Given the description of an element on the screen output the (x, y) to click on. 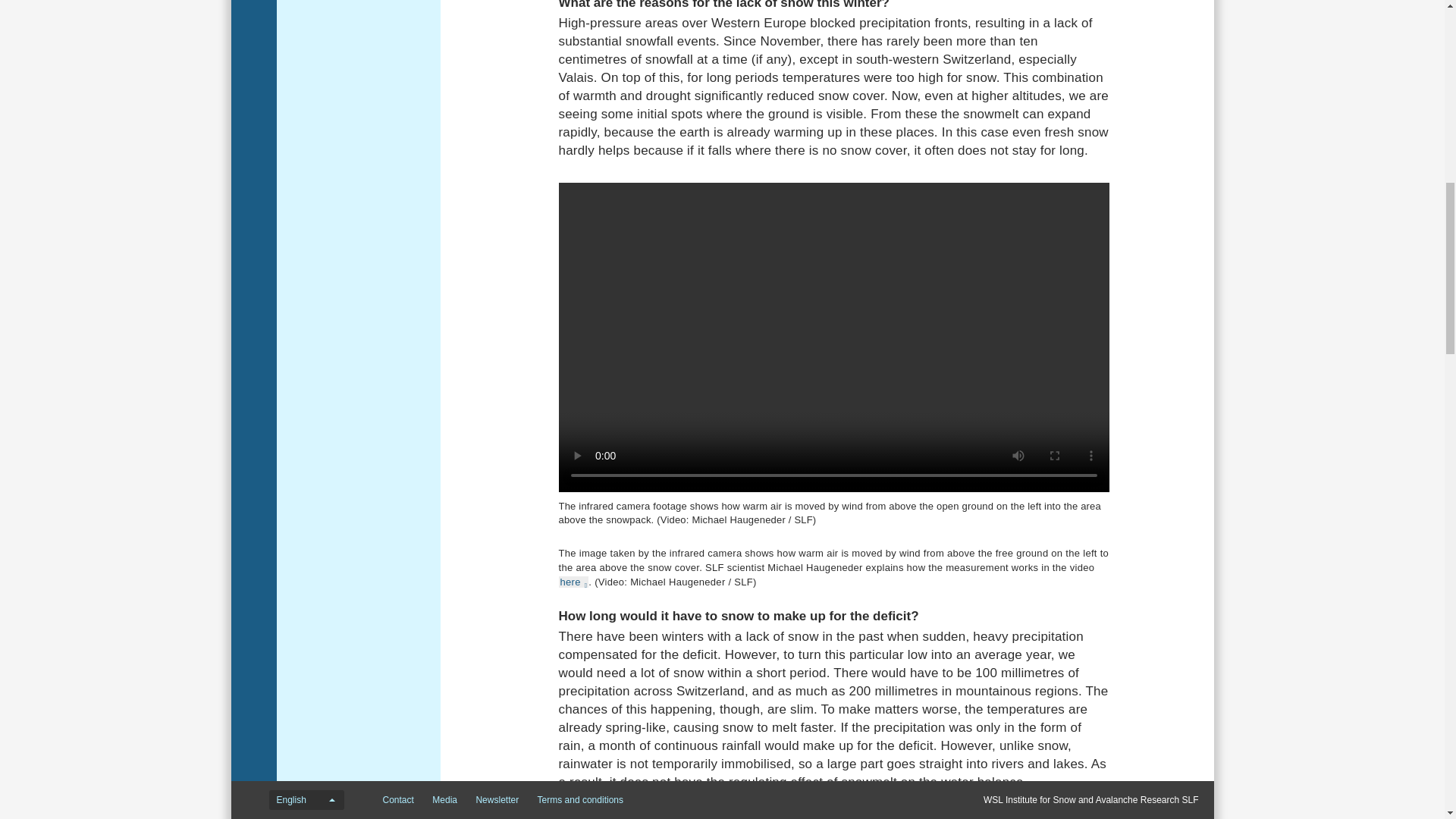
here (572, 582)
